Given the description of an element on the screen output the (x, y) to click on. 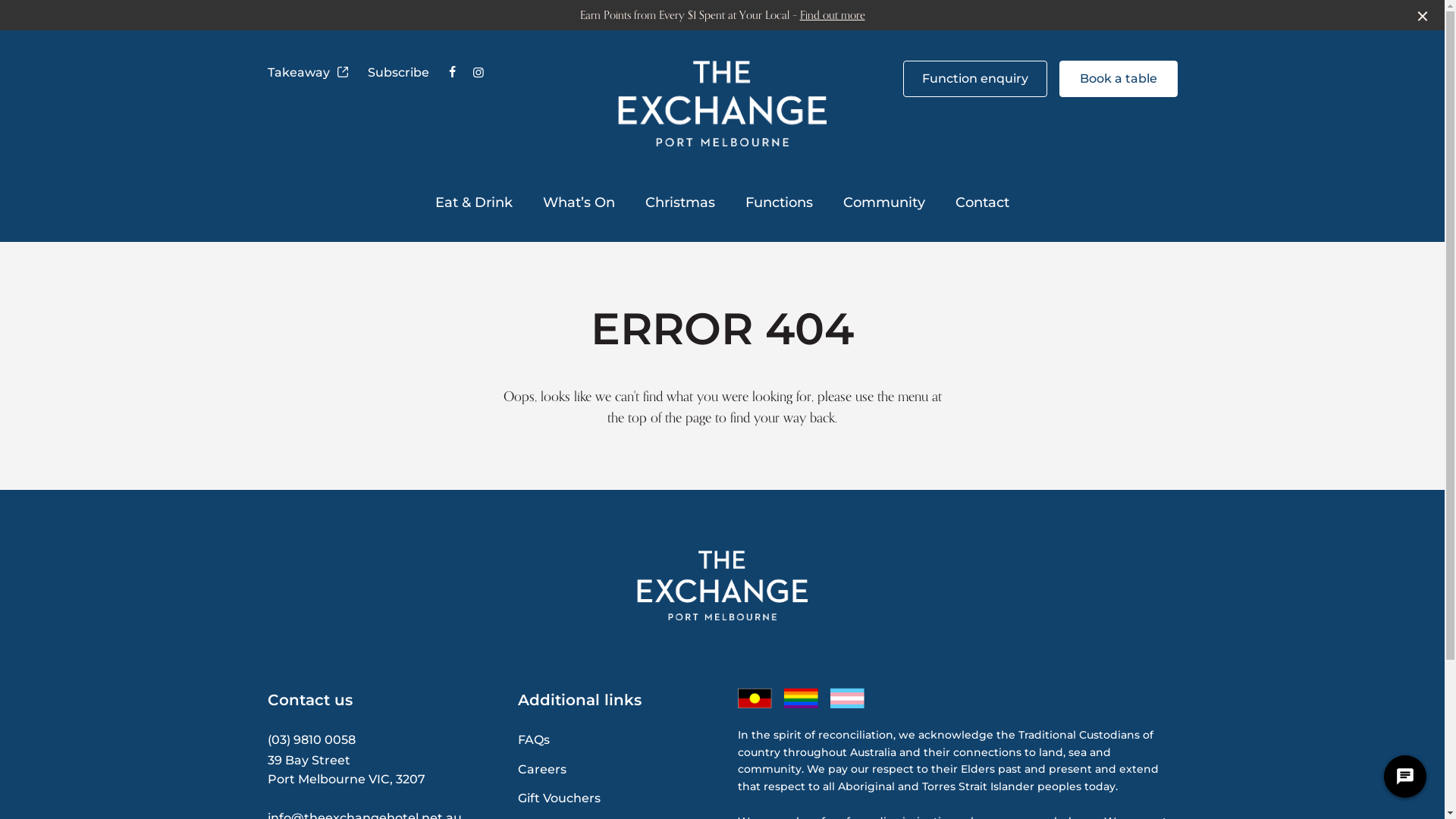
Function enquiry Element type: text (974, 78)
Careers Element type: text (541, 769)
FAQs Element type: text (533, 739)
Community Element type: text (884, 202)
(03) 9810 0058 Element type: text (310, 739)
Takeaway Element type: text (307, 72)
Genesys Messenger Launcher Element type: hover (1404, 779)
39 Bay Street
Port Melbourne VIC, 3207 Element type: text (345, 769)
Eat & Drink Element type: text (473, 202)
Subscribe Element type: text (397, 72)
Find out more Element type: text (831, 15)
Christmas Element type: text (680, 202)
Functions Element type: text (778, 202)
Gift Vouchers Element type: text (558, 797)
Book a table Element type: text (1117, 78)
Contact Element type: text (982, 202)
